Given the description of an element on the screen output the (x, y) to click on. 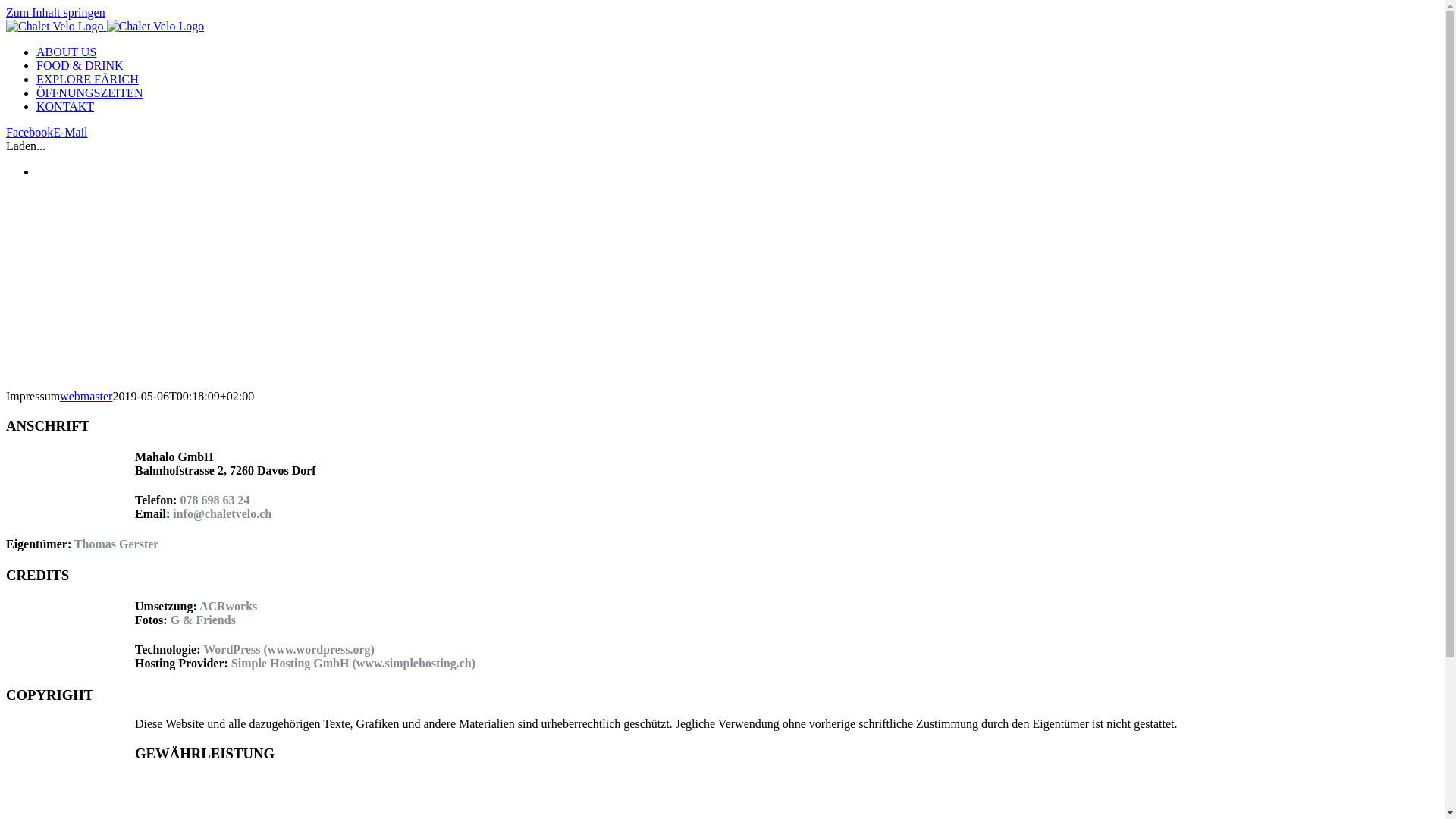
E-Mail Element type: text (70, 131)
FOOD & DRINK Element type: text (79, 65)
webmaster Element type: text (85, 395)
ABOUT US Element type: text (66, 51)
Zum Inhalt springen Element type: text (55, 12)
KONTAKT Element type: text (65, 106)
Facebook Element type: text (29, 131)
